Given the description of an element on the screen output the (x, y) to click on. 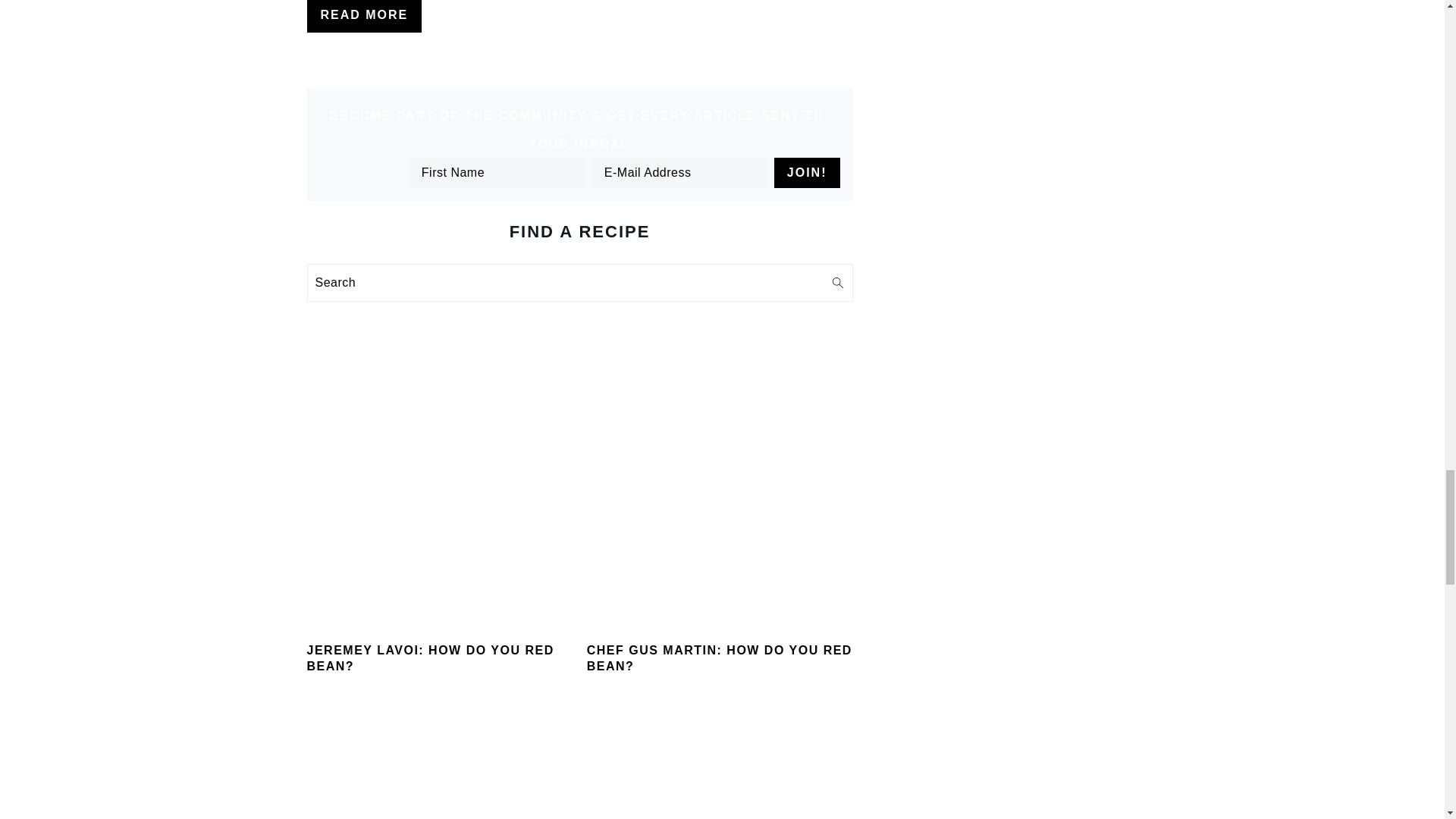
MICHAEL ALLEN ZELL: How Do You Red Bean? (719, 767)
JEREMEY LAVOI: HOW DO YOU RED BEAN? (429, 657)
CHEF GUS MARTIN: How Do You Red Bean? (719, 493)
Why You Should Join Beanlandia with Me (438, 767)
CHEF GUS MARTIN: HOW DO YOU RED BEAN? (718, 657)
Join! (807, 173)
JEREMEY LAVOI: How Do You Red Bean? (438, 493)
Join! (807, 173)
READ MORE (363, 16)
